Given the description of an element on the screen output the (x, y) to click on. 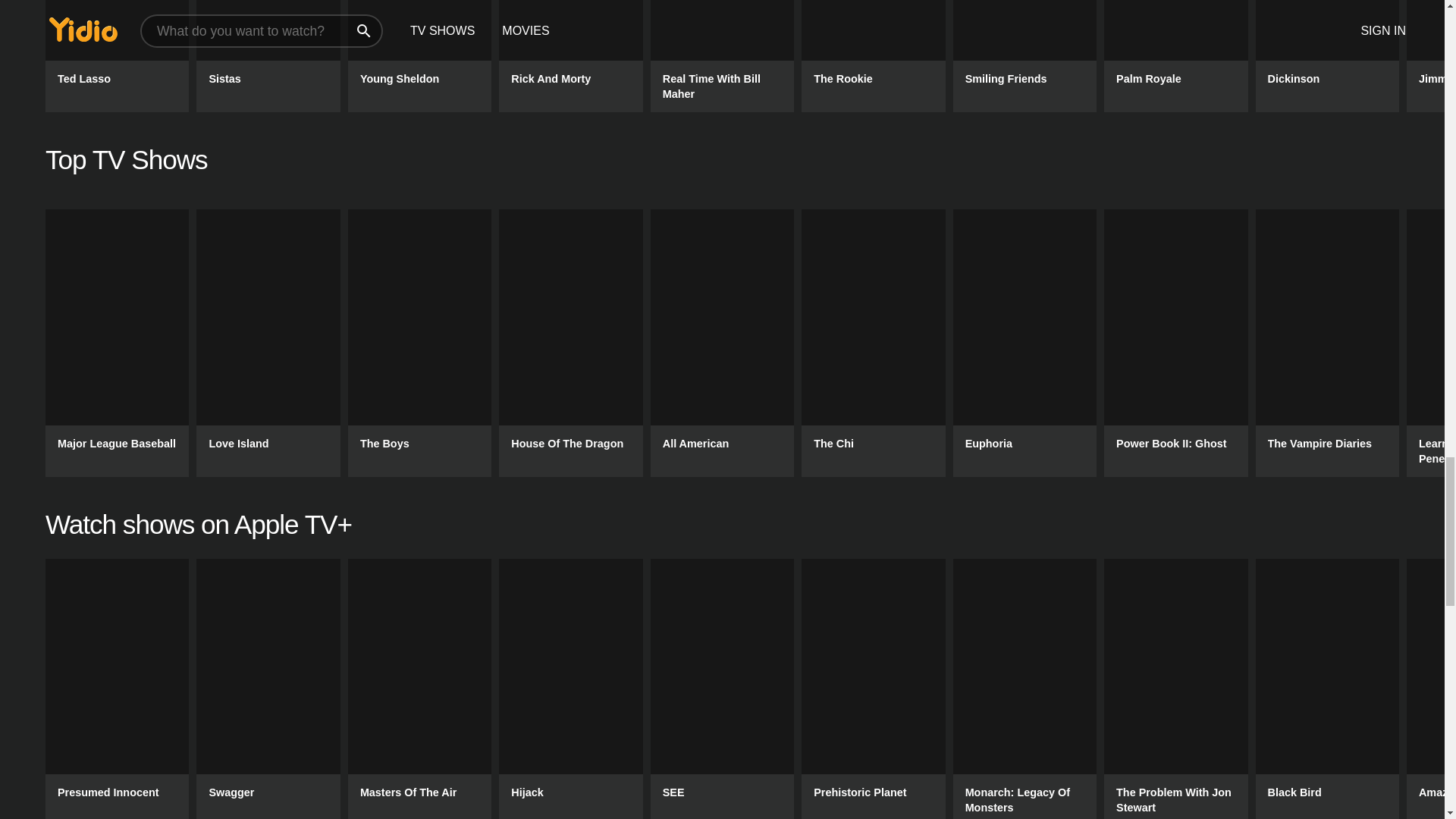
Rick and Morty (570, 56)
The Rookie (873, 56)
Smiling Friends (1024, 56)
Real Time with Bill Maher (721, 56)
Young Sheldon (419, 56)
Rick And Morty (570, 56)
Palm Royale (1175, 56)
Sistas (267, 56)
Ted Lasso (117, 56)
Real Time With Bill Maher (721, 56)
Dickinson (1327, 56)
Palm Royale (1175, 56)
Young Sheldon (419, 56)
Dickinson (1327, 56)
Smiling Friends (1024, 56)
